Given the description of an element on the screen output the (x, y) to click on. 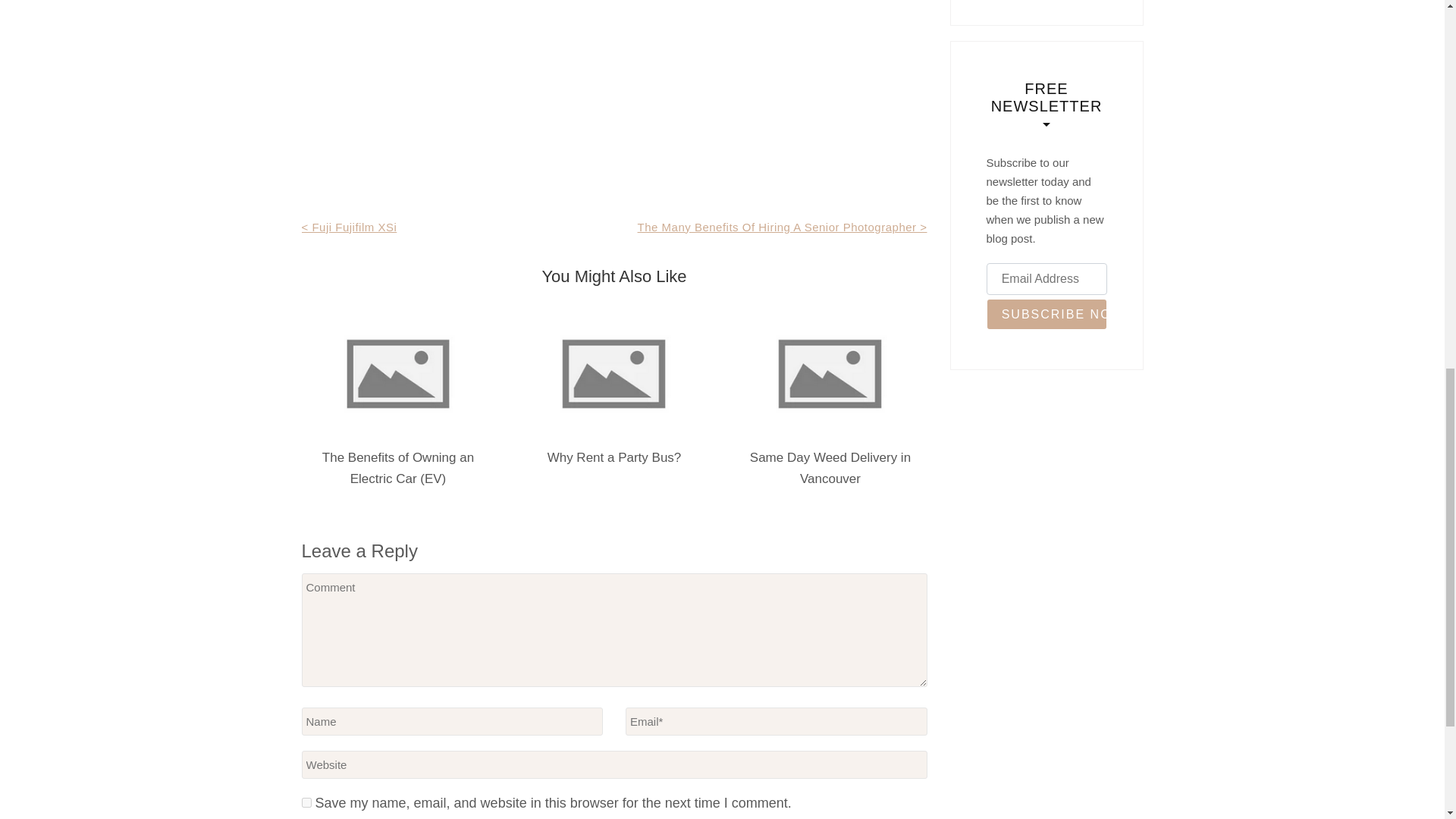
Same Day Weed Delivery in Vancouver (830, 468)
Buy YouTube Comments From a Reputable Service (1045, 2)
SUBSCRIBE NOW (1045, 314)
Why Rent a Party Bus? (614, 457)
yes (306, 802)
SUBSCRIBE NOW (1045, 314)
